Given the description of an element on the screen output the (x, y) to click on. 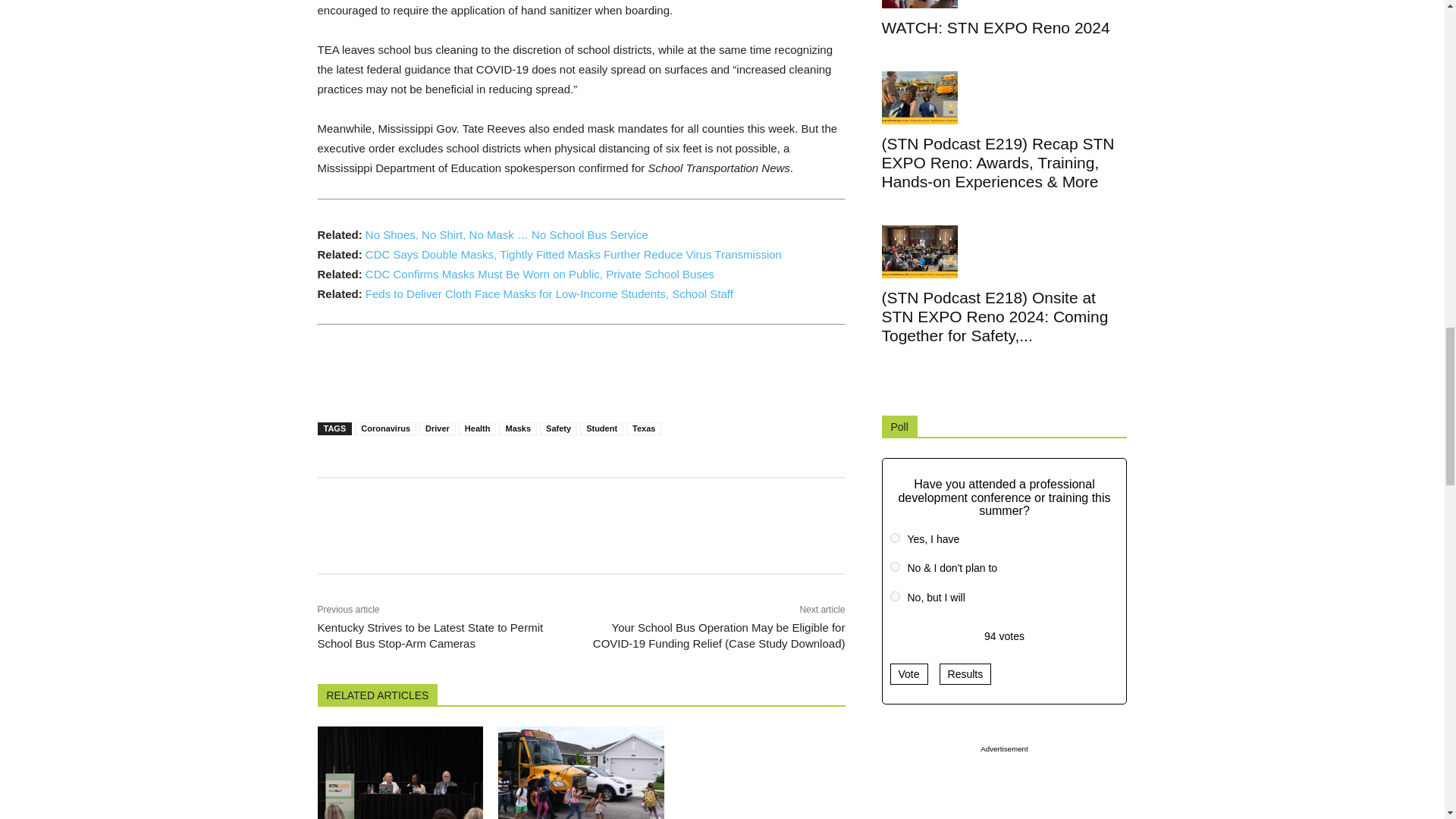
328 (894, 596)
318 (894, 537)
319 (894, 566)
